Given the description of an element on the screen output the (x, y) to click on. 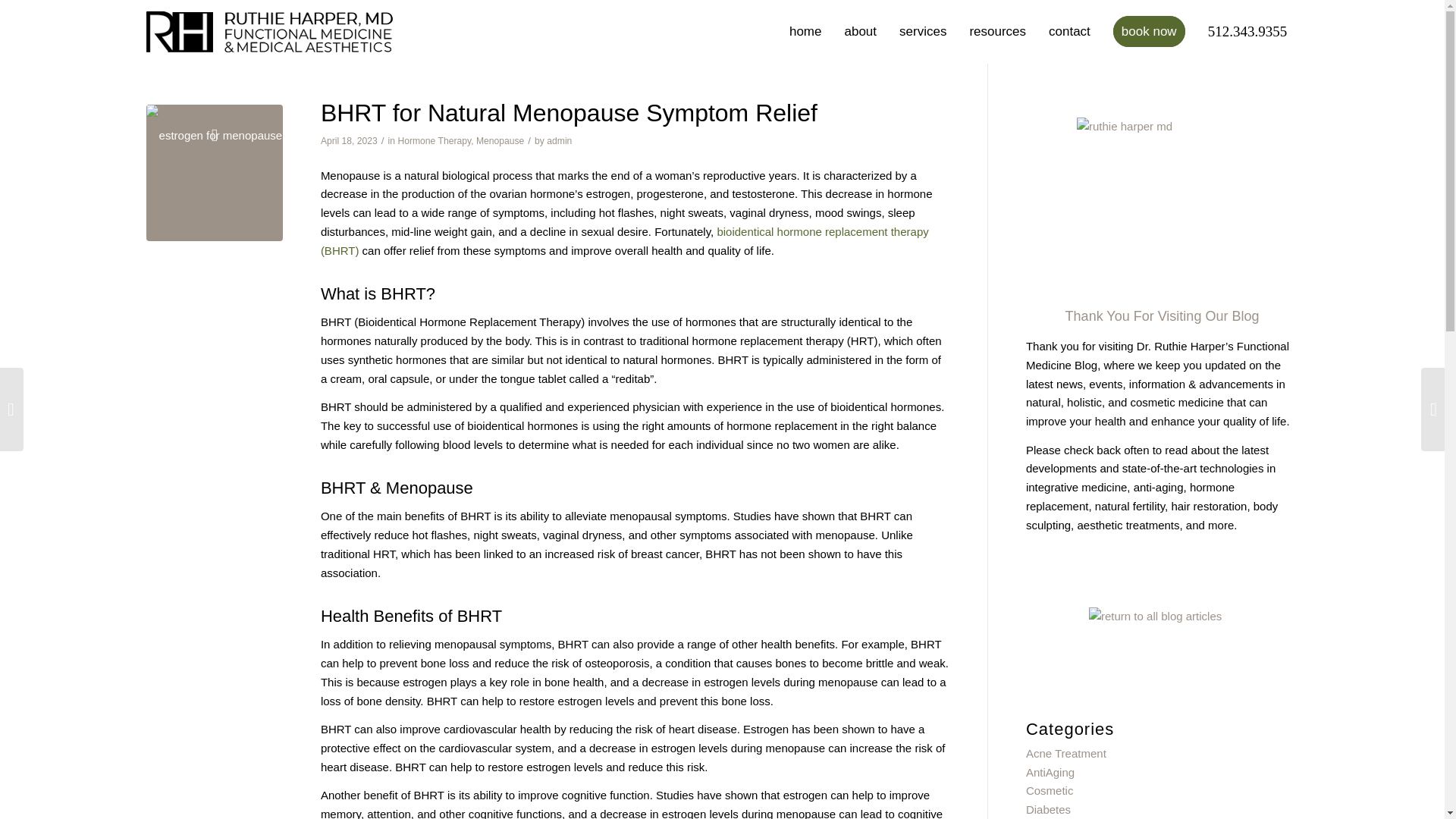
services (923, 31)
Posts by admin (559, 140)
estrogen for menopause (214, 172)
